Given the description of an element on the screen output the (x, y) to click on. 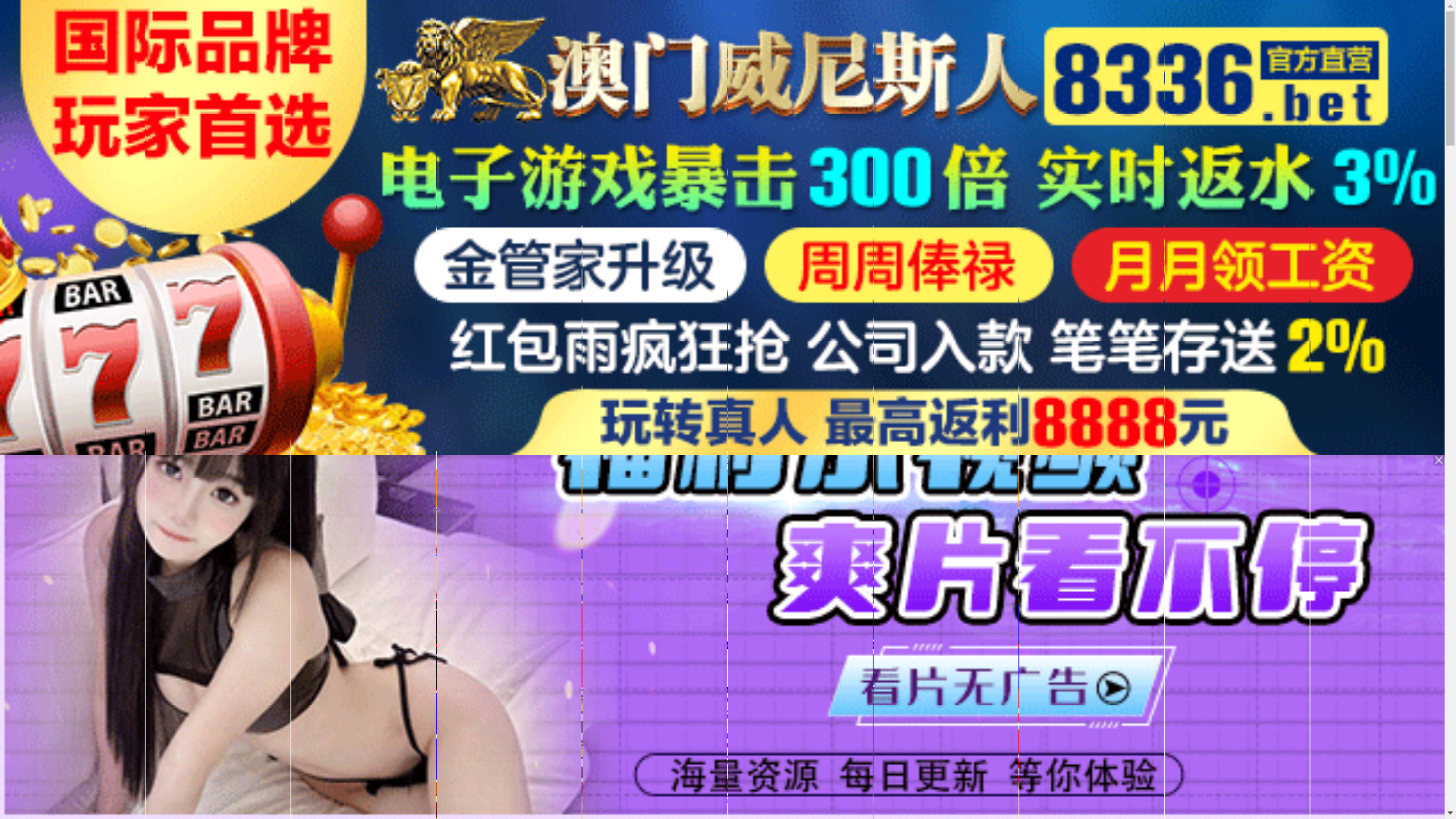
07pa.com Element type: text (721, 491)
